Given the description of an element on the screen output the (x, y) to click on. 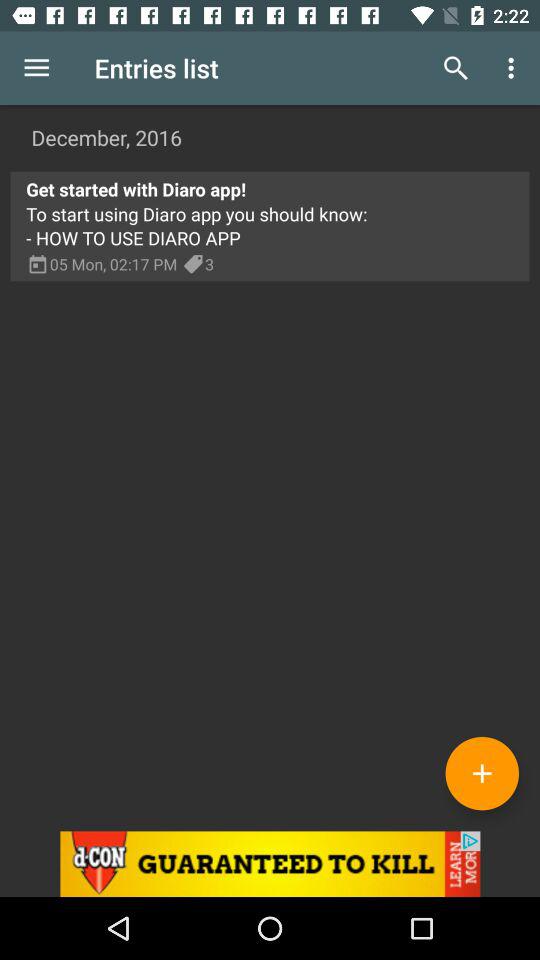
write a new message (482, 773)
